Given the description of an element on the screen output the (x, y) to click on. 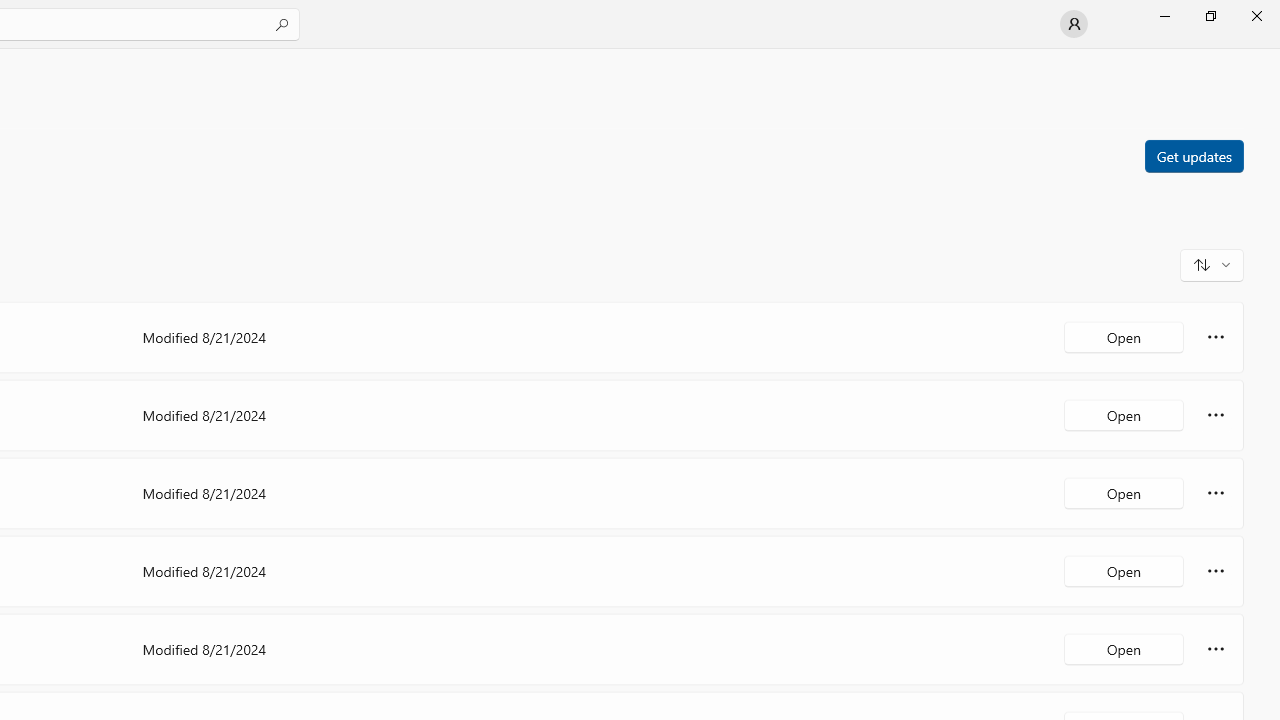
Close Microsoft Store (1256, 15)
More options (1215, 648)
Get updates (1193, 155)
Minimize Microsoft Store (1164, 15)
Open (1123, 648)
Restore Microsoft Store (1210, 15)
Sort and filter (1212, 263)
User profile (1073, 24)
